Given the description of an element on the screen output the (x, y) to click on. 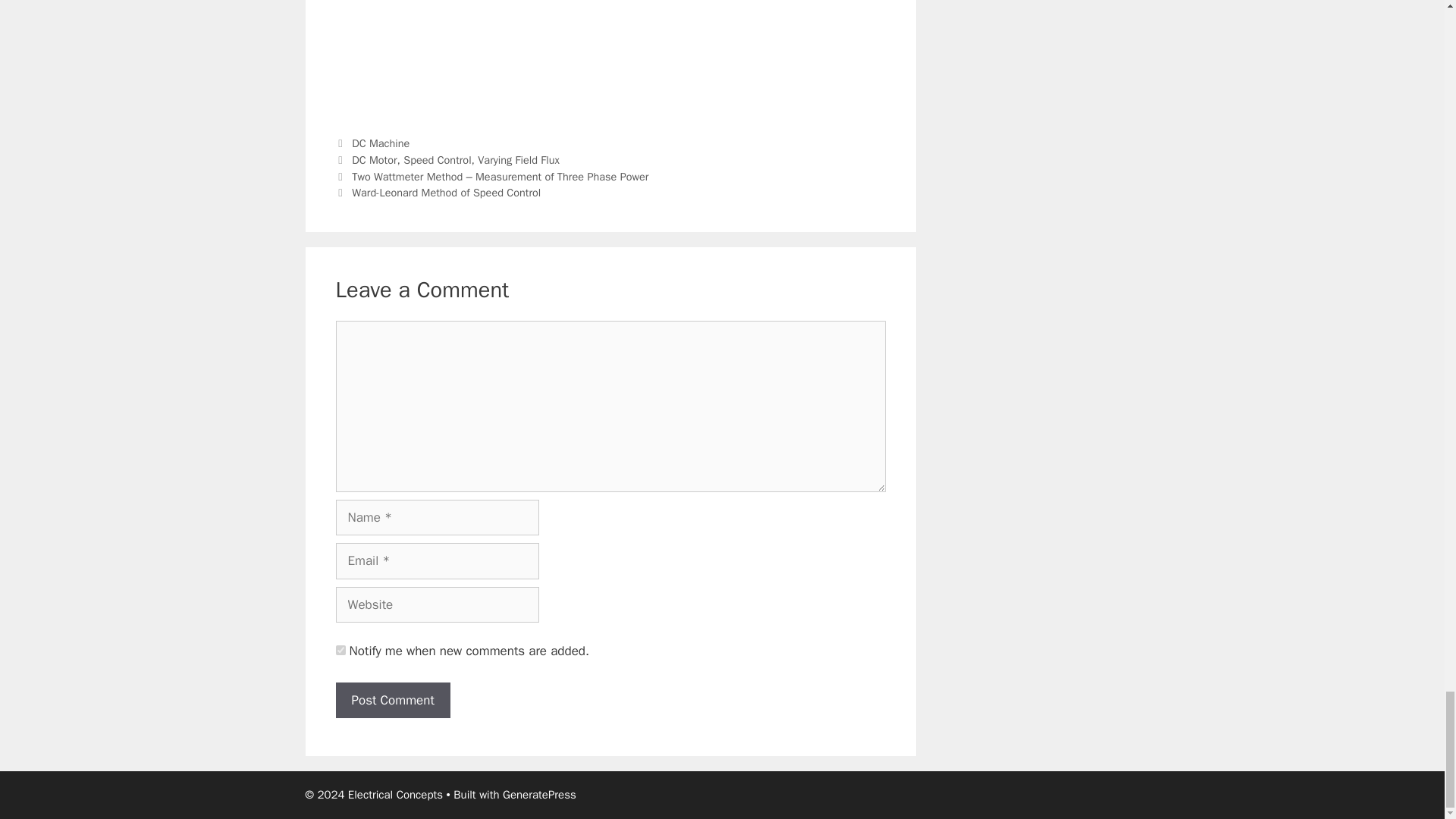
DC Machine (380, 142)
Post Comment (391, 700)
Post Comment (391, 700)
1 (339, 650)
Varying Field Flux (518, 160)
Speed Control (436, 160)
Previous (490, 176)
DC Motor (374, 160)
Ward-Leonard Method of Speed Control (446, 192)
Next (437, 192)
